Given the description of an element on the screen output the (x, y) to click on. 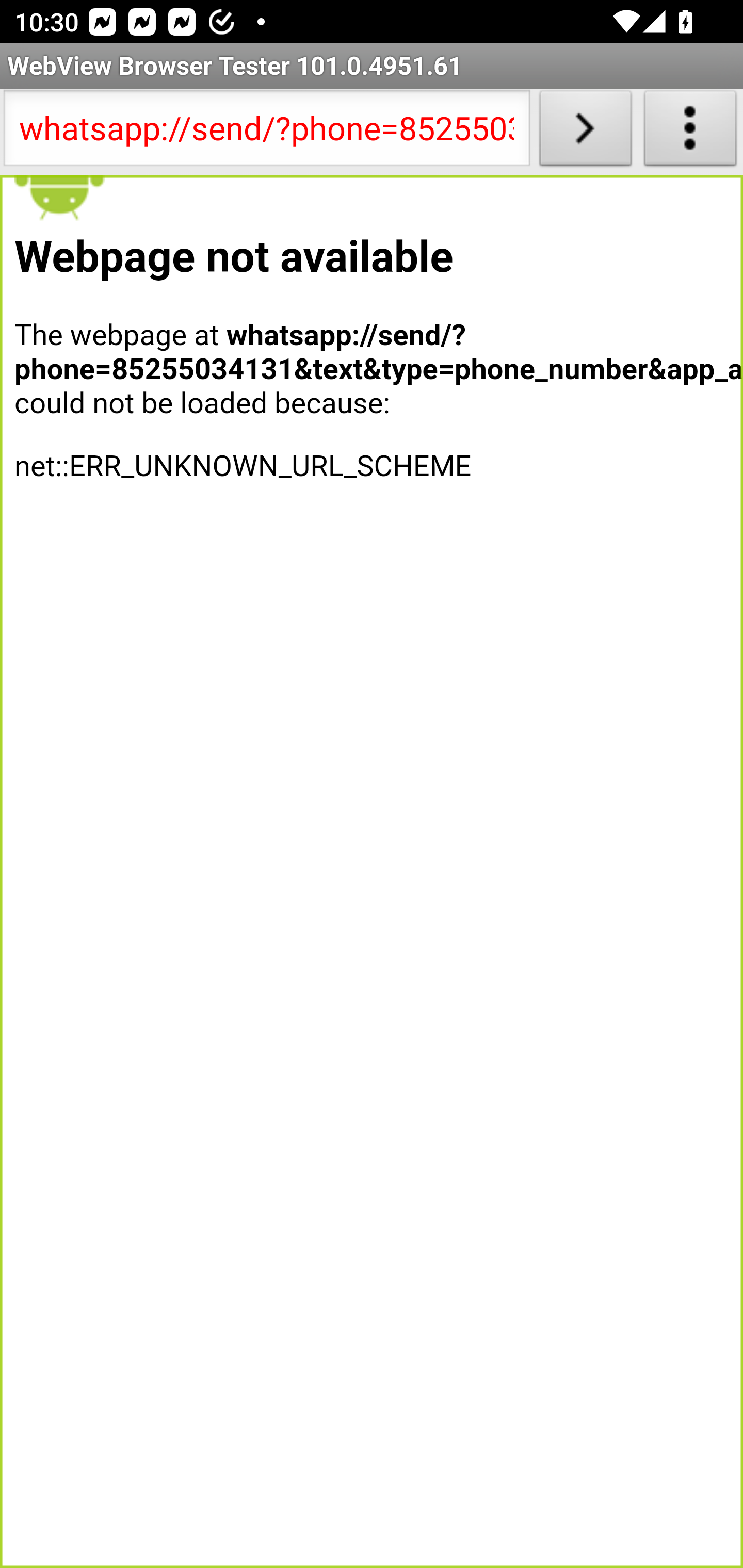
Load URL (585, 132)
About WebView (690, 132)
